Given the description of an element on the screen output the (x, y) to click on. 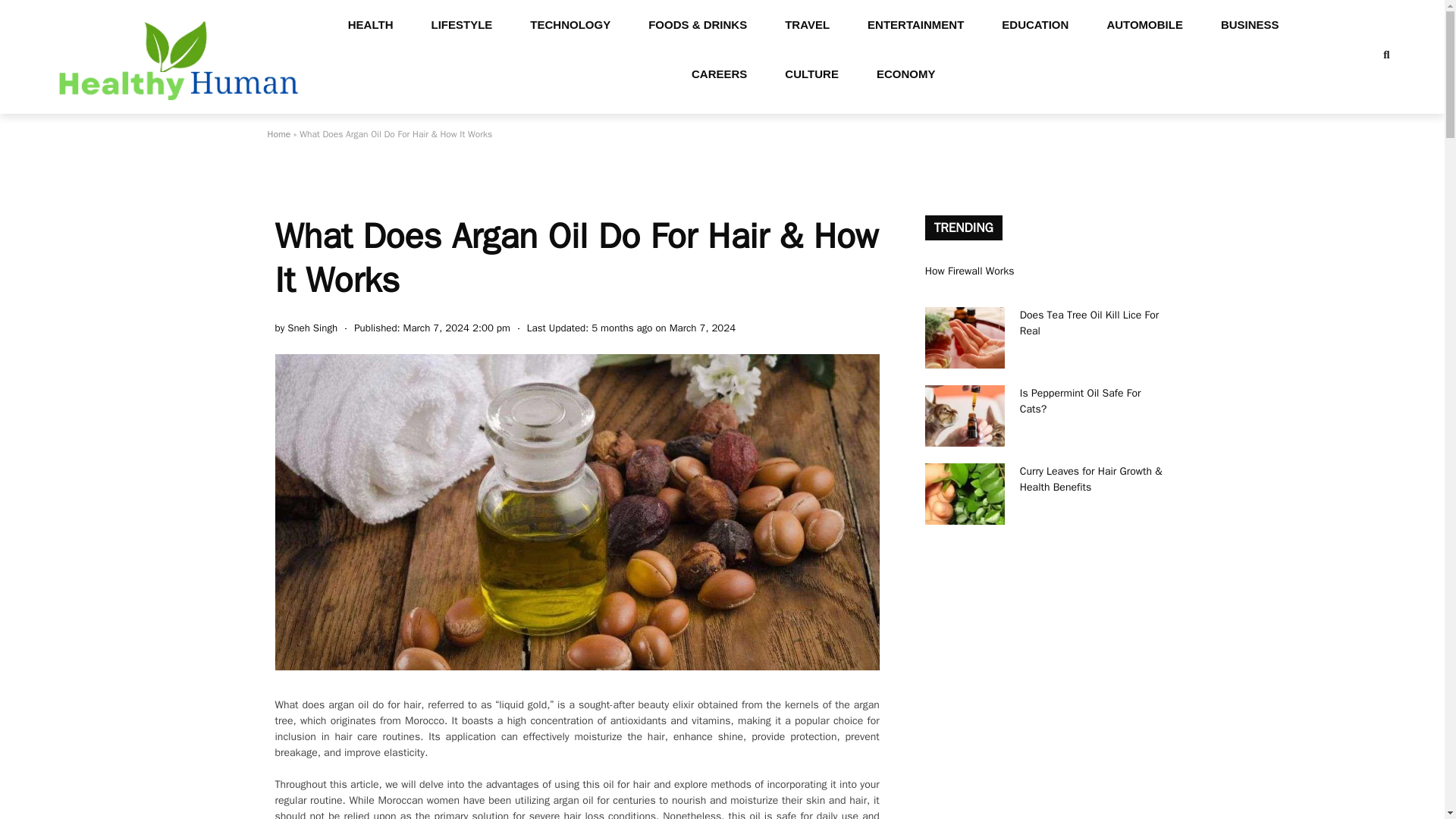
HEALTH (370, 24)
BUSINESS (1250, 24)
ECONOMY (906, 73)
LIFESTYLE (462, 24)
AUTOMOBILE (1144, 24)
CULTURE (811, 73)
CAREERS (718, 73)
TECHNOLOGY (569, 24)
ENTERTAINMENT (915, 24)
EDUCATION (1034, 24)
